Given the description of an element on the screen output the (x, y) to click on. 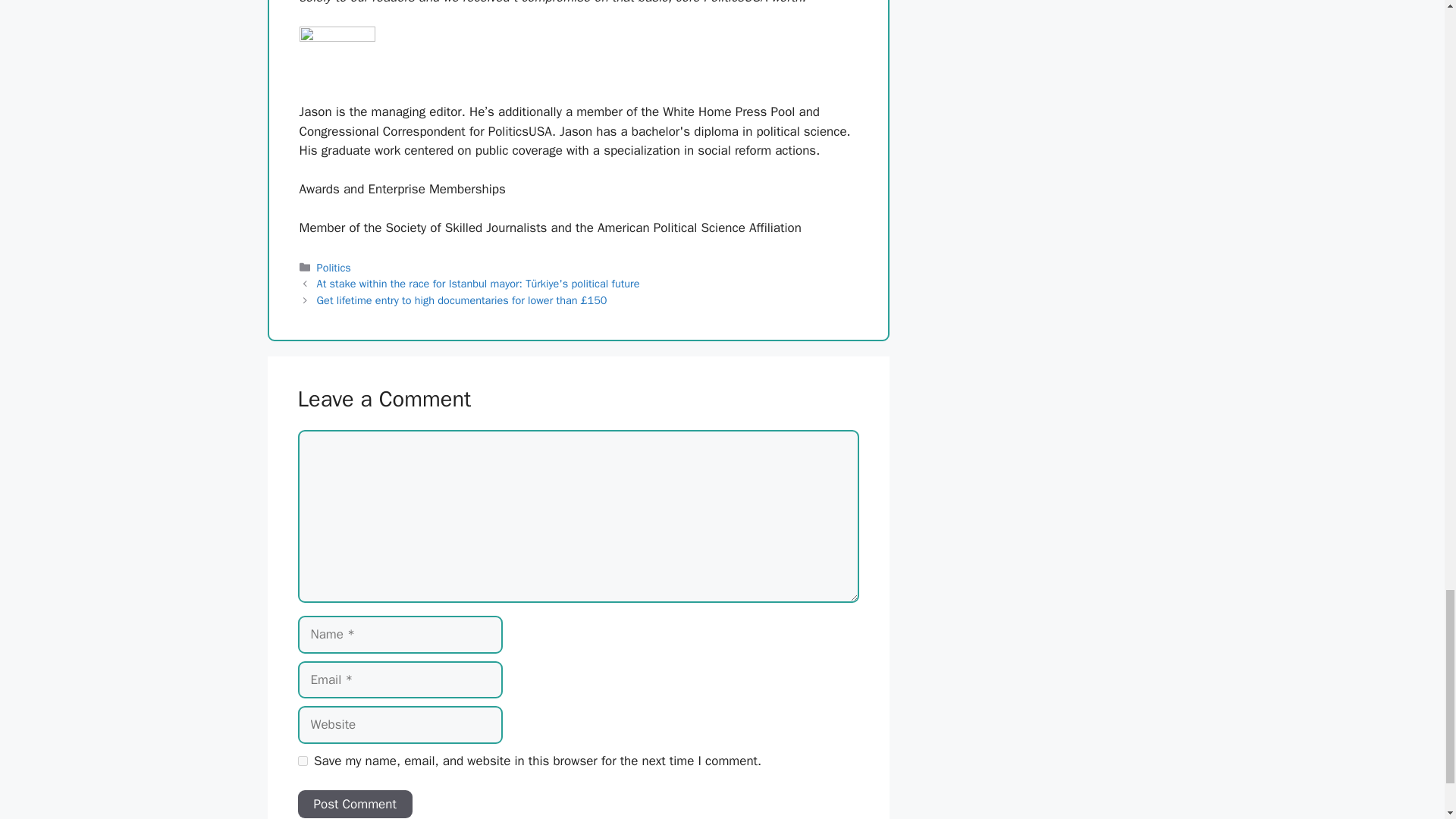
Politics (333, 267)
Post Comment (354, 804)
yes (302, 760)
Post Comment (354, 804)
